Given the description of an element on the screen output the (x, y) to click on. 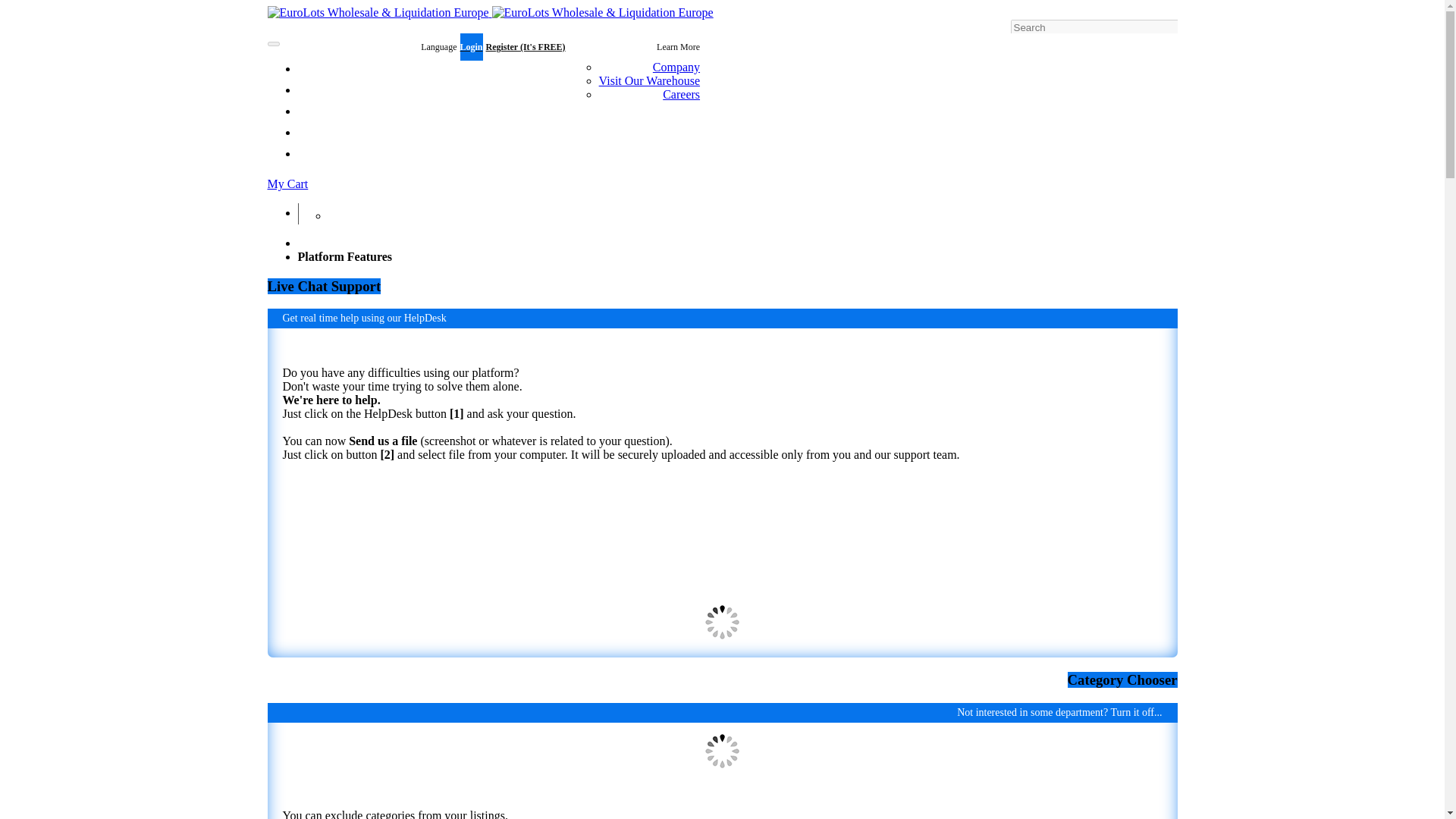
LOTS (321, 90)
Language (377, 46)
My Cart (721, 183)
PROMOS (329, 111)
NEW (320, 154)
TRENDING (334, 132)
Visit Our Warehouse (649, 80)
MAKE A LOT (341, 213)
Register (526, 46)
Company (676, 66)
